Given the description of an element on the screen output the (x, y) to click on. 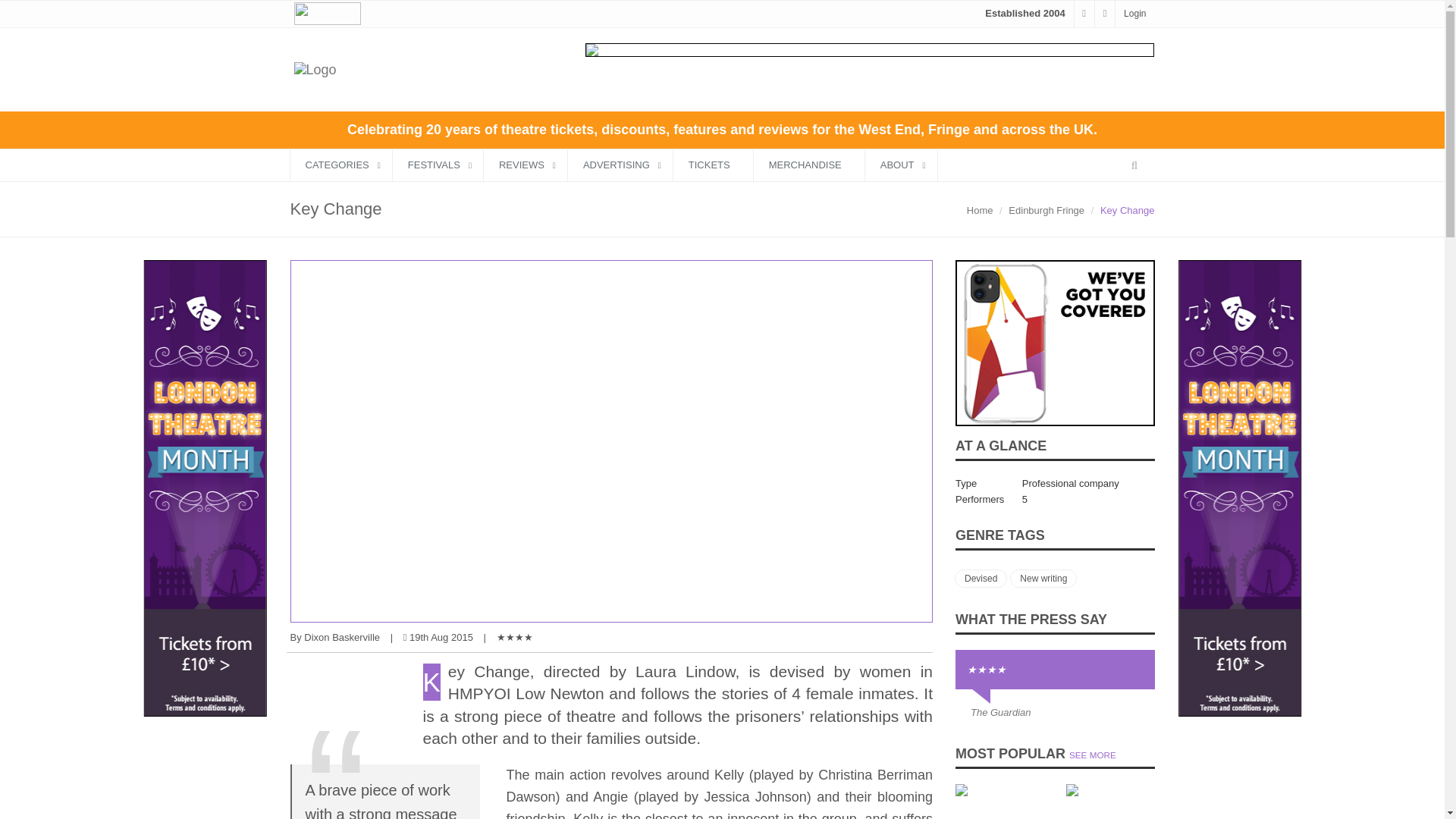
FESTIVALS (438, 164)
Login (1134, 13)
CATEGORIES (340, 164)
